Given the description of an element on the screen output the (x, y) to click on. 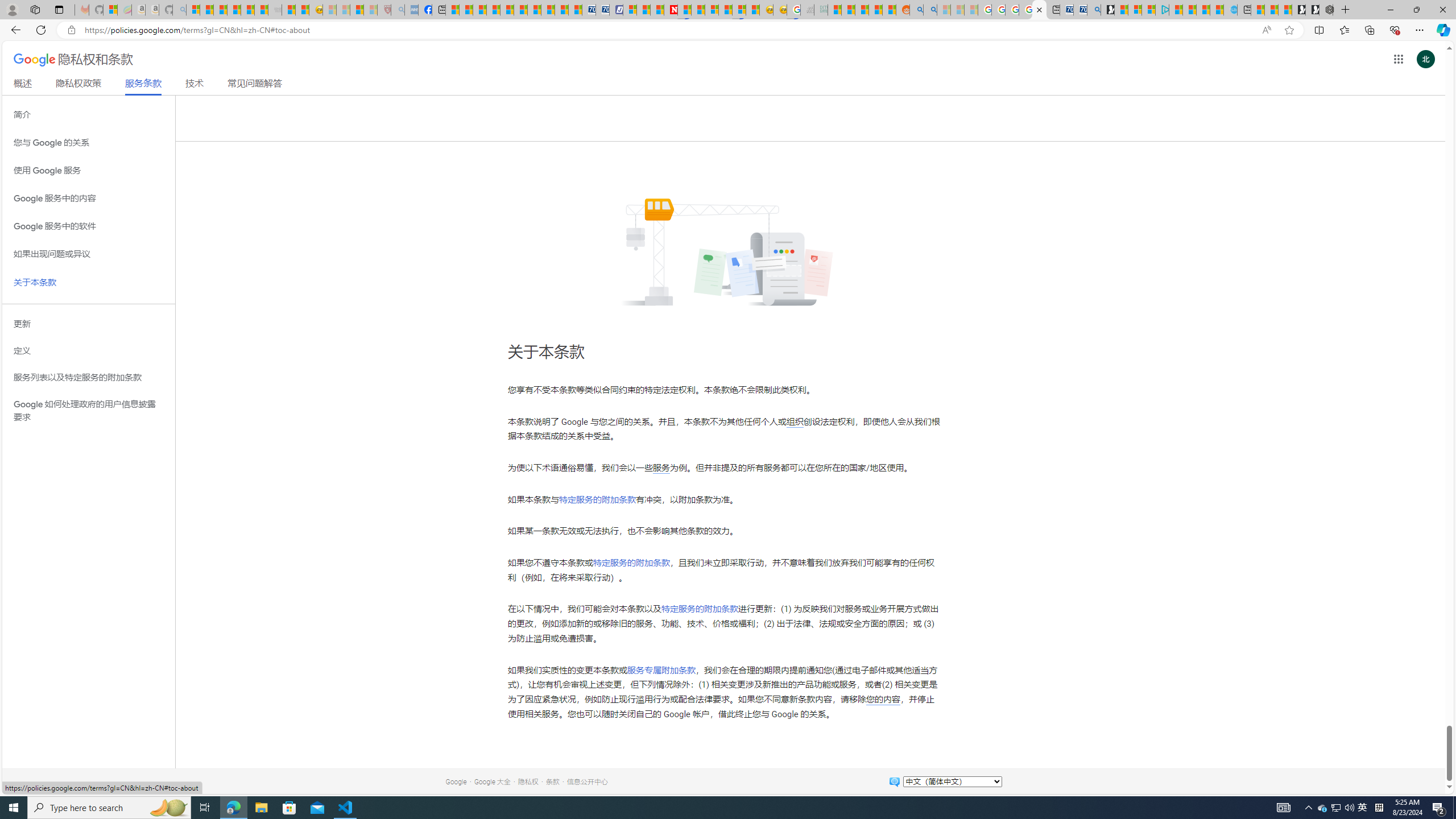
The Weather Channel - MSN (219, 9)
New Report Confirms 2023 Was Record Hot | Watch (247, 9)
Cheap Car Rentals - Save70.com (1080, 9)
